Given the description of an element on the screen output the (x, y) to click on. 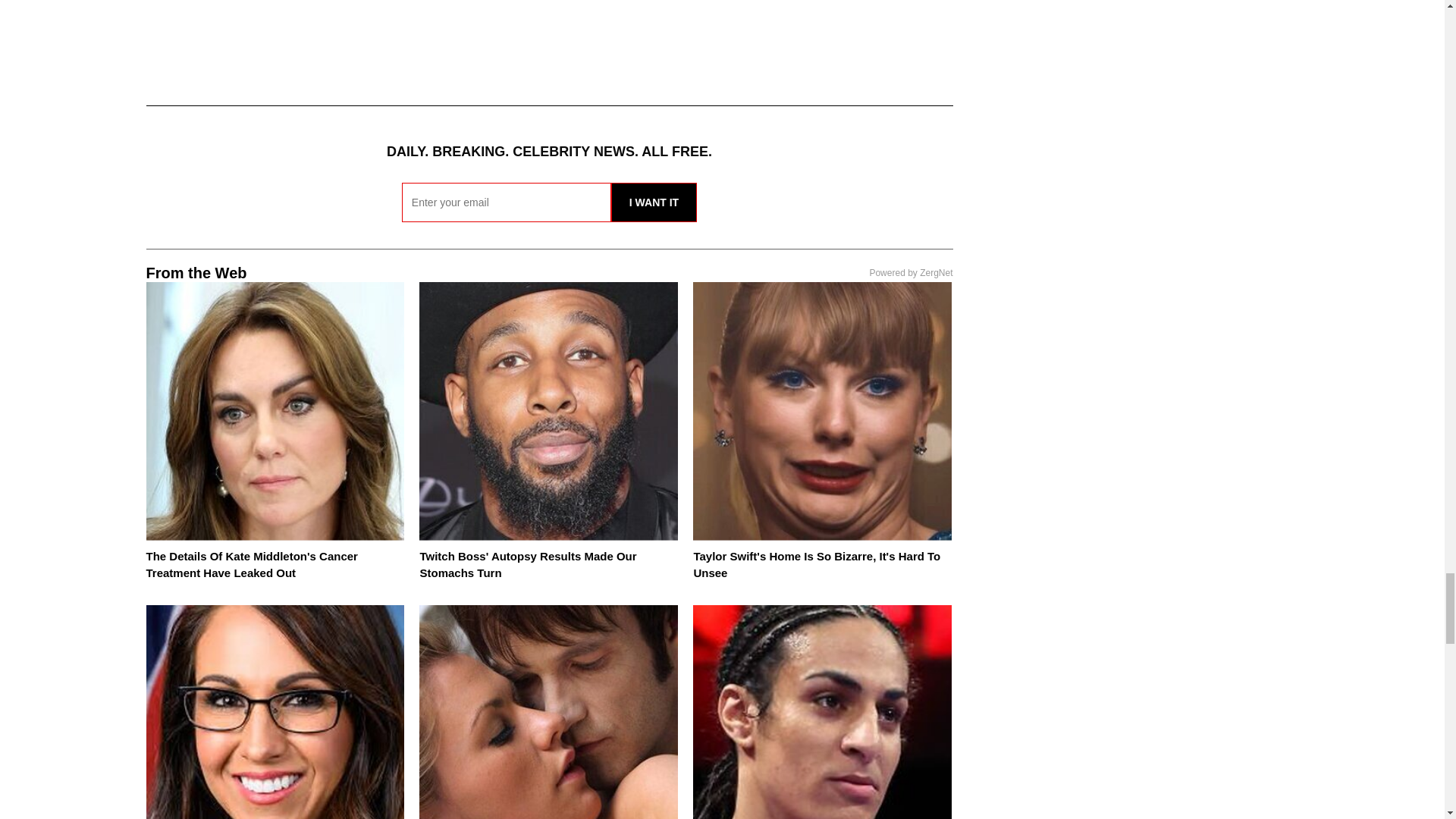
I WANT IT (654, 201)
Twitch Boss' Autopsy Results Made Our Stomachs Turn (527, 564)
I WANT IT (654, 201)
Powered by ZergNet (910, 272)
Taylor Swift's Home Is So Bizarre, It's Hard To Unsee (816, 564)
